Given the description of an element on the screen output the (x, y) to click on. 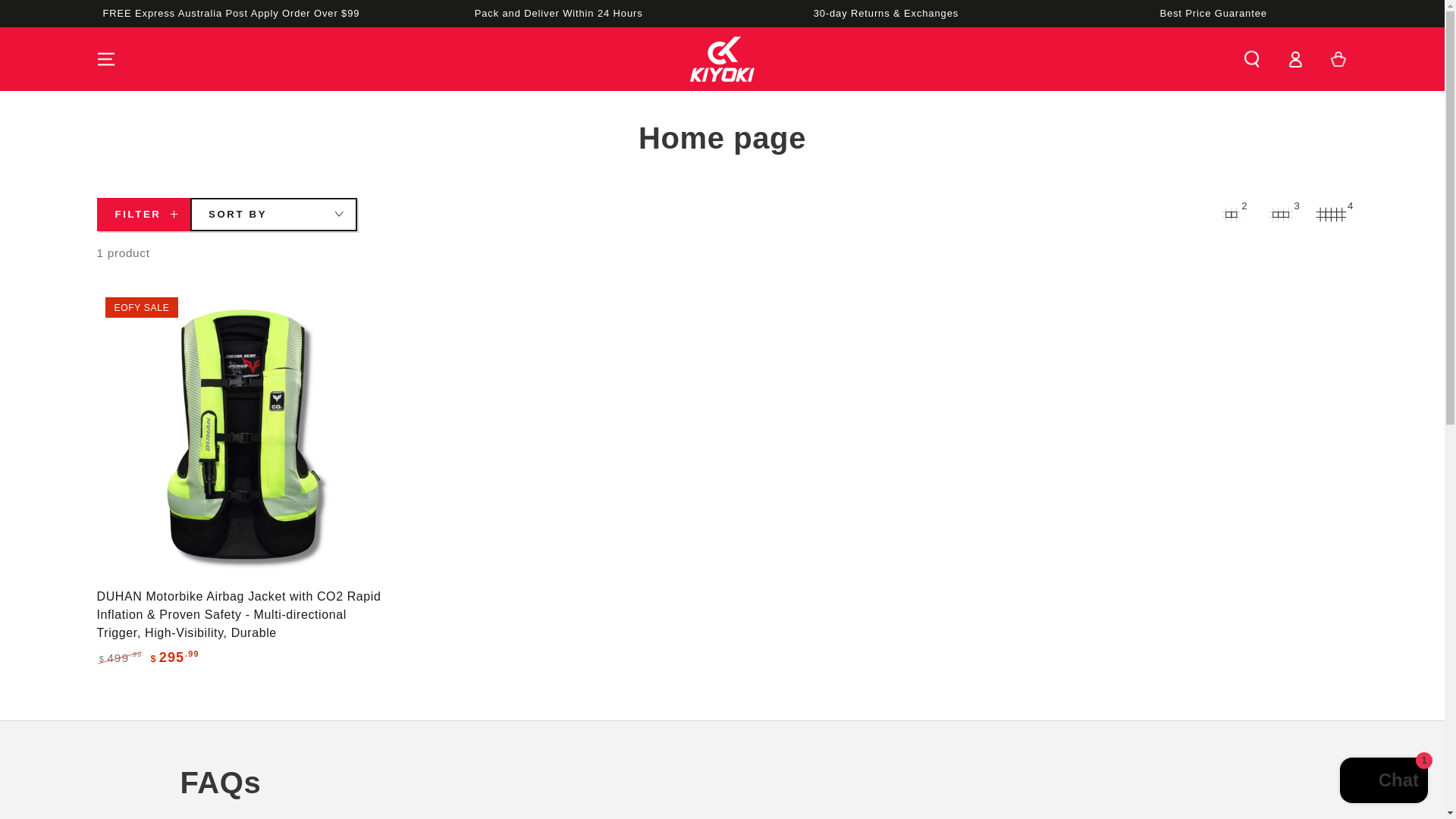
4 (1331, 213)
2 (1230, 213)
3 (1281, 213)
Shopify online store chat (1383, 781)
Log in (1295, 58)
SKIP TO CONTENT (74, 16)
